Given the description of an element on the screen output the (x, y) to click on. 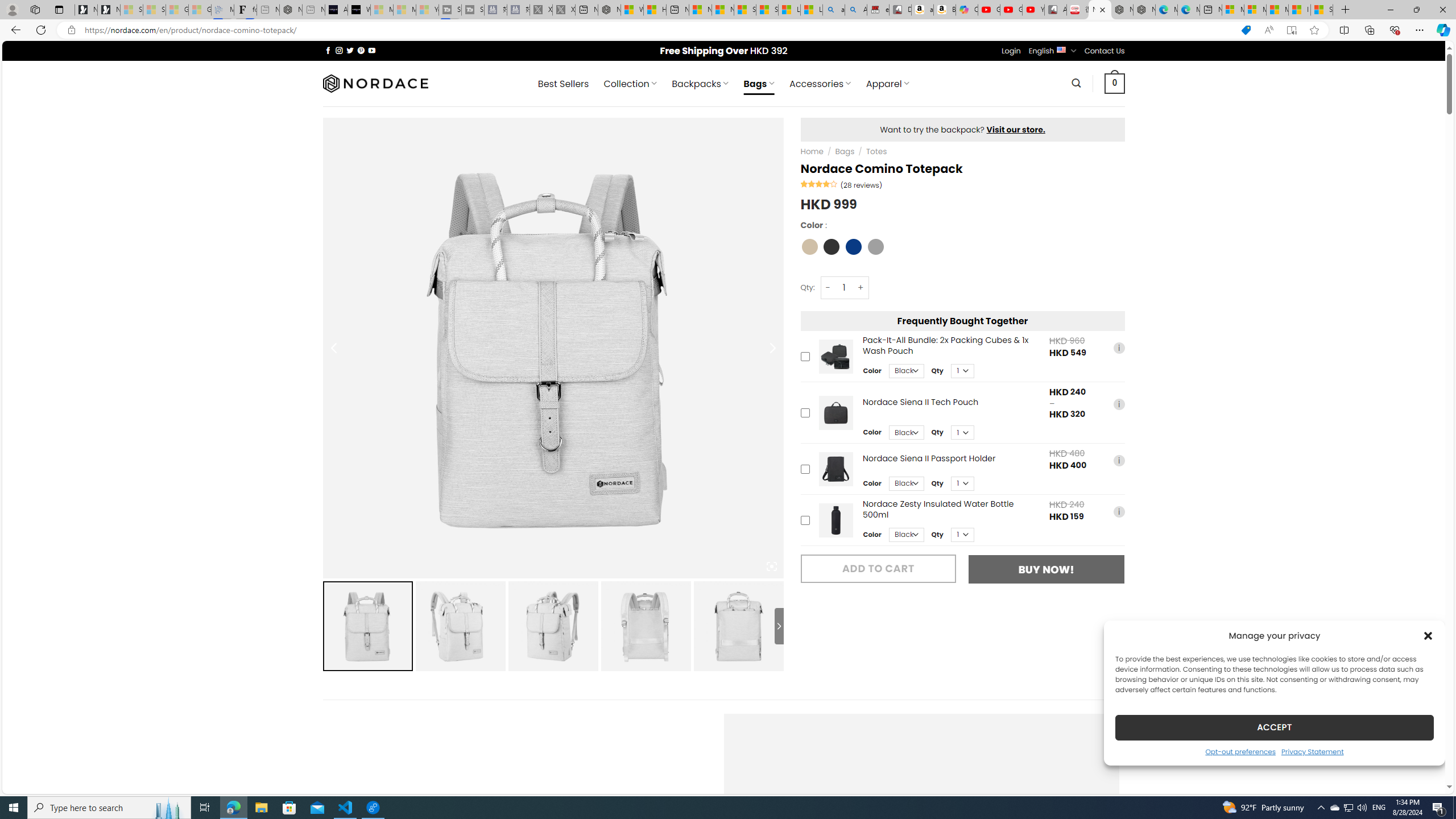
Huge shark washes ashore at New York City beach | Watch (655, 9)
Newsletter Sign Up (109, 9)
Bags (844, 151)
I Gained 20 Pounds of Muscle in 30 Days! | Watch (1300, 9)
Search (1076, 83)
Add this product to cart (804, 519)
Streaming Coverage | T3 - Sleeping (449, 9)
Address and search bar (658, 29)
Login (1010, 50)
